Given the description of an element on the screen output the (x, y) to click on. 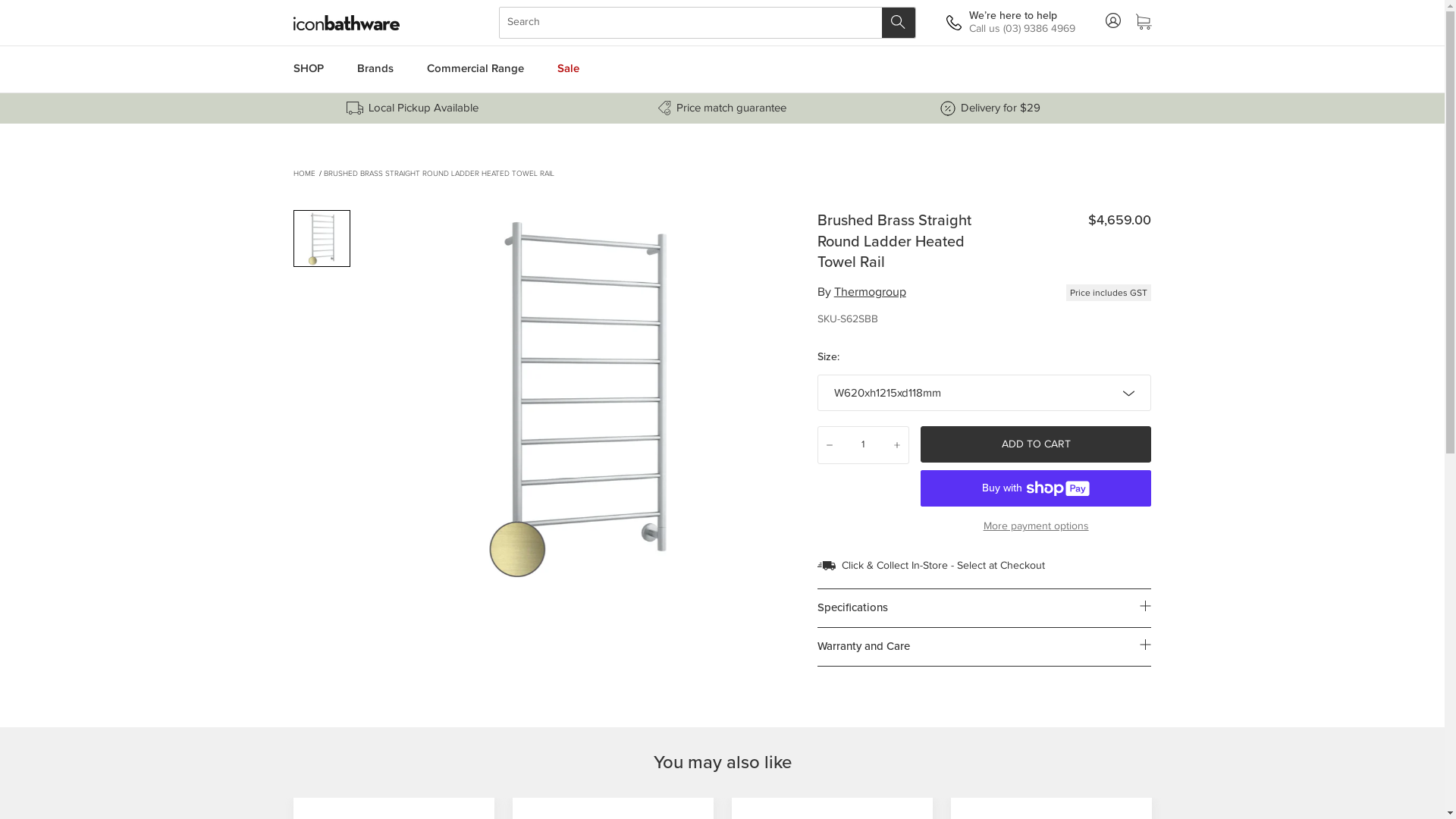
Cart Element type: text (1143, 22)
Search Element type: text (897, 22)
Commercial Range Element type: text (474, 69)
+ Element type: text (896, 444)
SHOP Element type: text (307, 69)
HOME Element type: text (303, 174)
Thermogroup Element type: text (870, 292)
BRUSHED BRASS STRAIGHT ROUND LADDER HEATED TOWEL RAIL Element type: text (438, 174)
Delivery for $29 Element type: text (997, 108)
ADD TO CART Element type: text (1035, 444)
Call us (03) 9386 4969 Element type: text (1022, 28)
More payment options Element type: text (1035, 526)
Brands Element type: text (374, 69)
Sale Element type: text (567, 69)
